Given the description of an element on the screen output the (x, y) to click on. 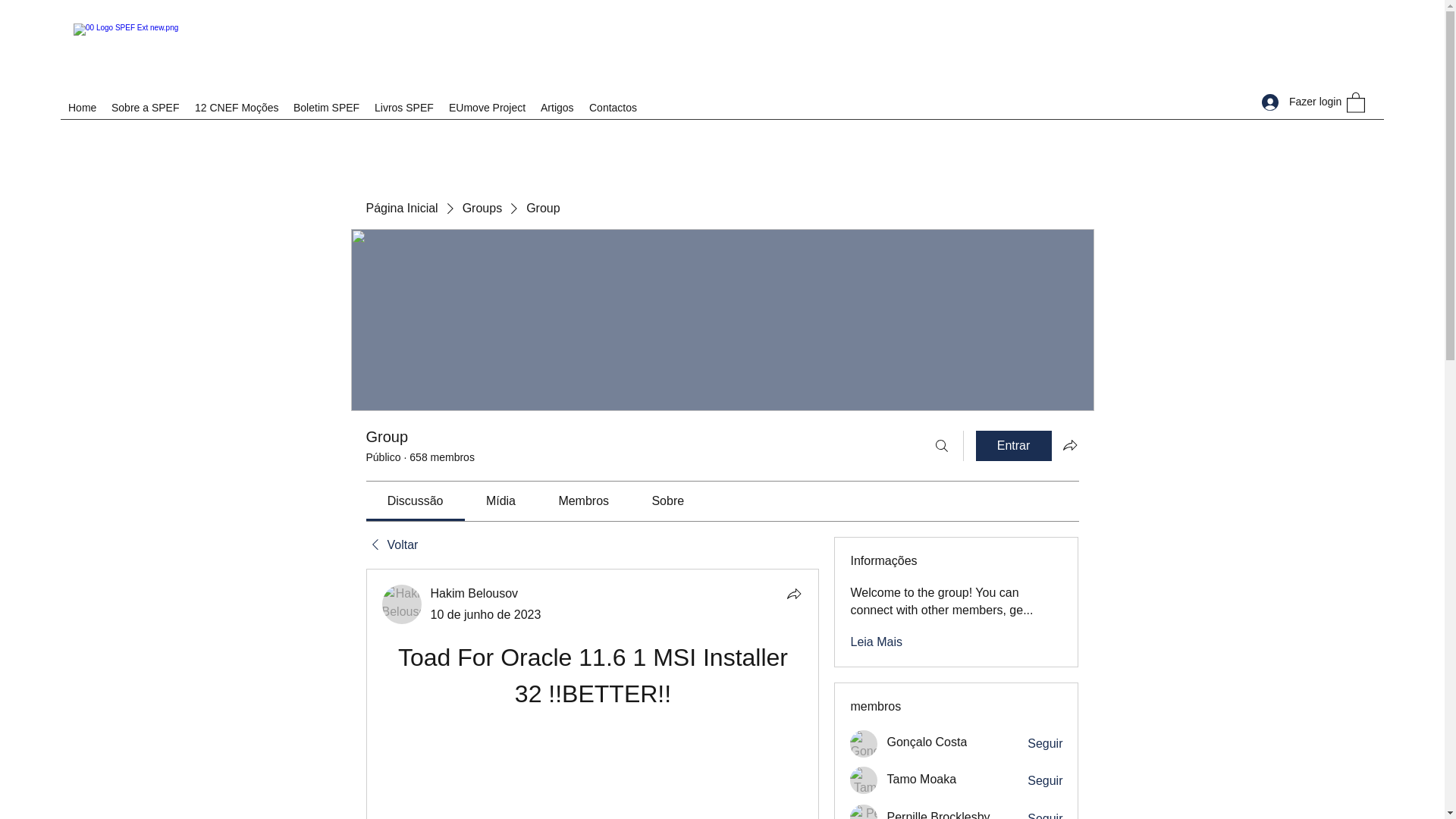
Boletim SPEF (325, 107)
Pernille Brocklesby (863, 811)
Tamo Moaka (863, 779)
Entrar (1013, 445)
Hakim Belousov (474, 593)
Fazer login (1292, 101)
Hakim Belousov (401, 604)
Seguir (1044, 781)
Voltar (391, 545)
Home (82, 107)
